Given the description of an element on the screen output the (x, y) to click on. 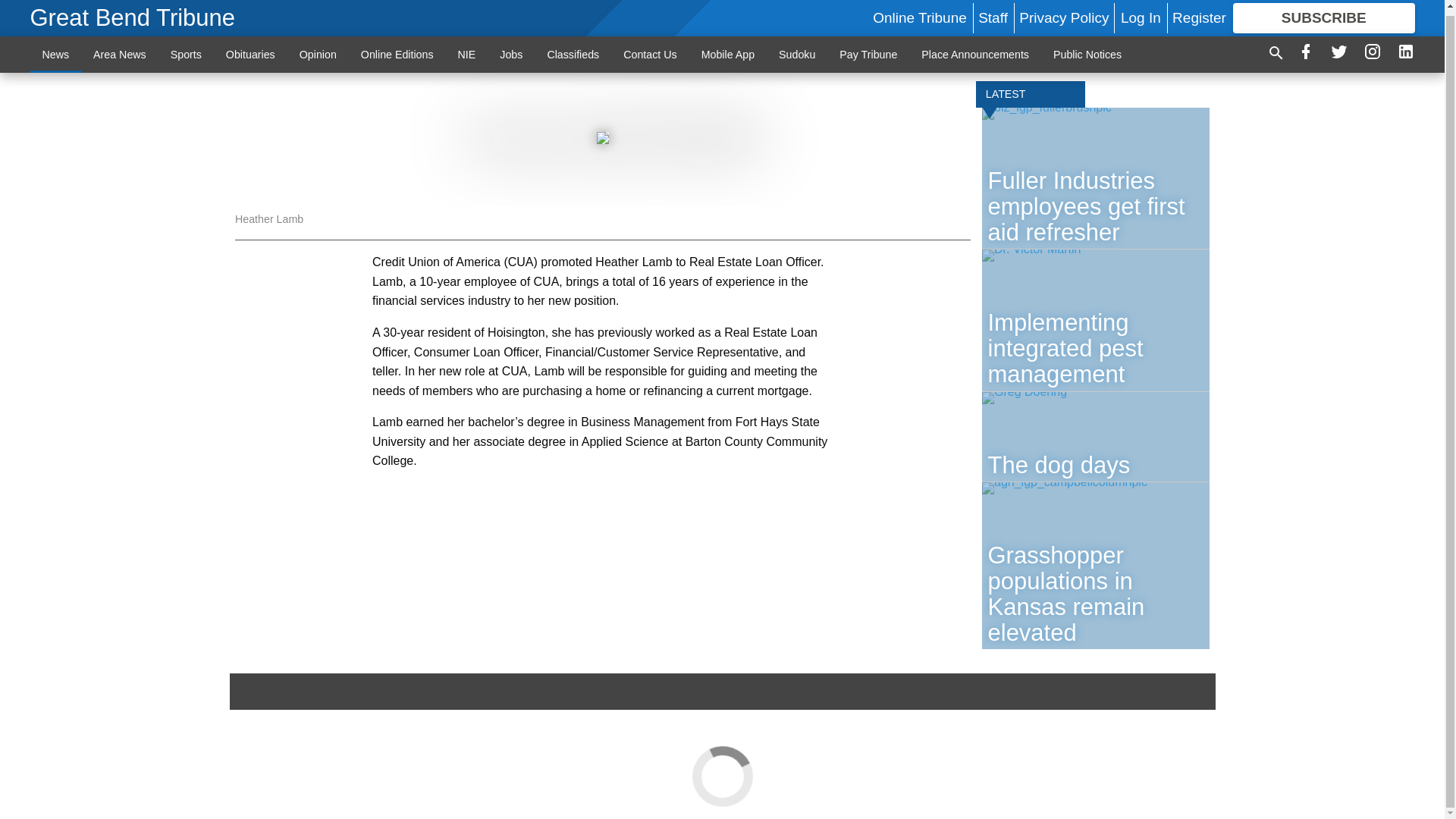
Staff (992, 13)
SUBSCRIBE (1324, 14)
Great Bend Tribune (132, 14)
Privacy Policy (1063, 13)
Online Tribune (919, 13)
Register (1198, 13)
Log In (1140, 13)
